Given the description of an element on the screen output the (x, y) to click on. 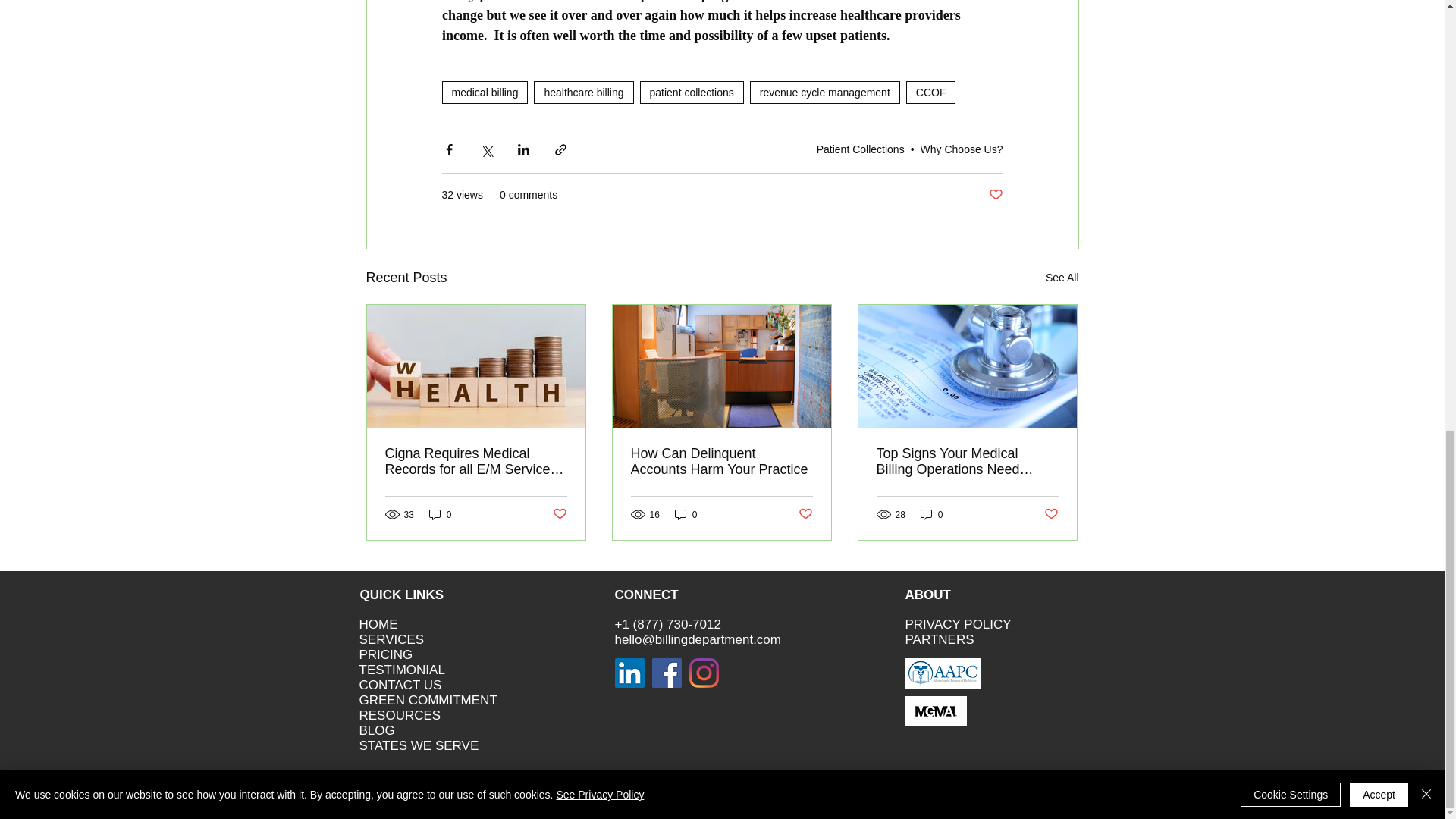
CCOF (930, 92)
medical billing (484, 92)
revenue cycle management (824, 92)
patient collections (692, 92)
healthcare billing (583, 92)
